Given the description of an element on the screen output the (x, y) to click on. 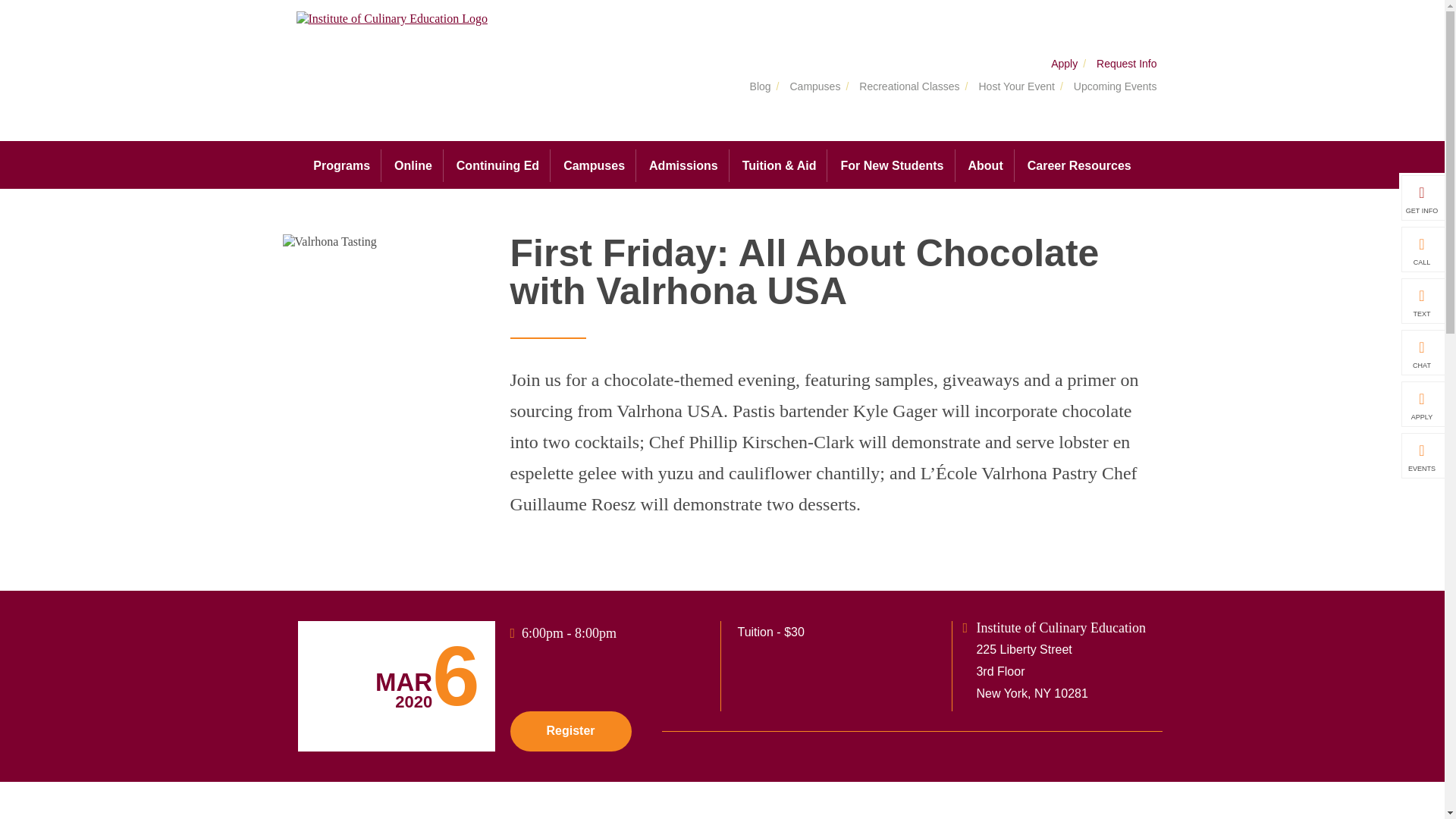
Programs (341, 164)
Campuses (594, 165)
Online (412, 165)
Admissions (683, 165)
Continuing Ed (497, 165)
